Given the description of an element on the screen output the (x, y) to click on. 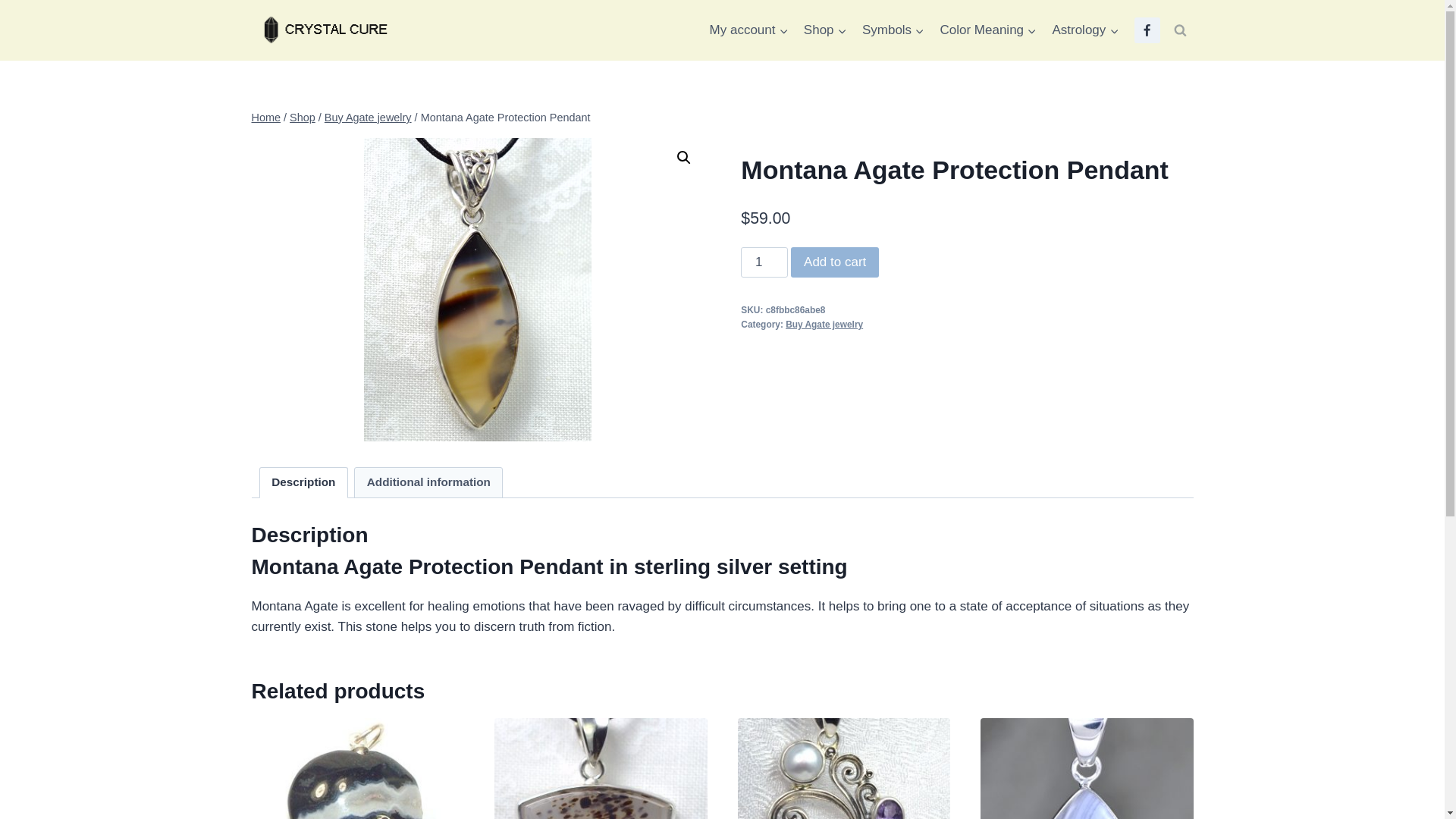
Symbols (893, 30)
My account (747, 30)
1 (764, 262)
Shop (825, 30)
Home (266, 117)
Qty (764, 262)
Color Meaning (987, 30)
Astrology (1084, 30)
